Given the description of an element on the screen output the (x, y) to click on. 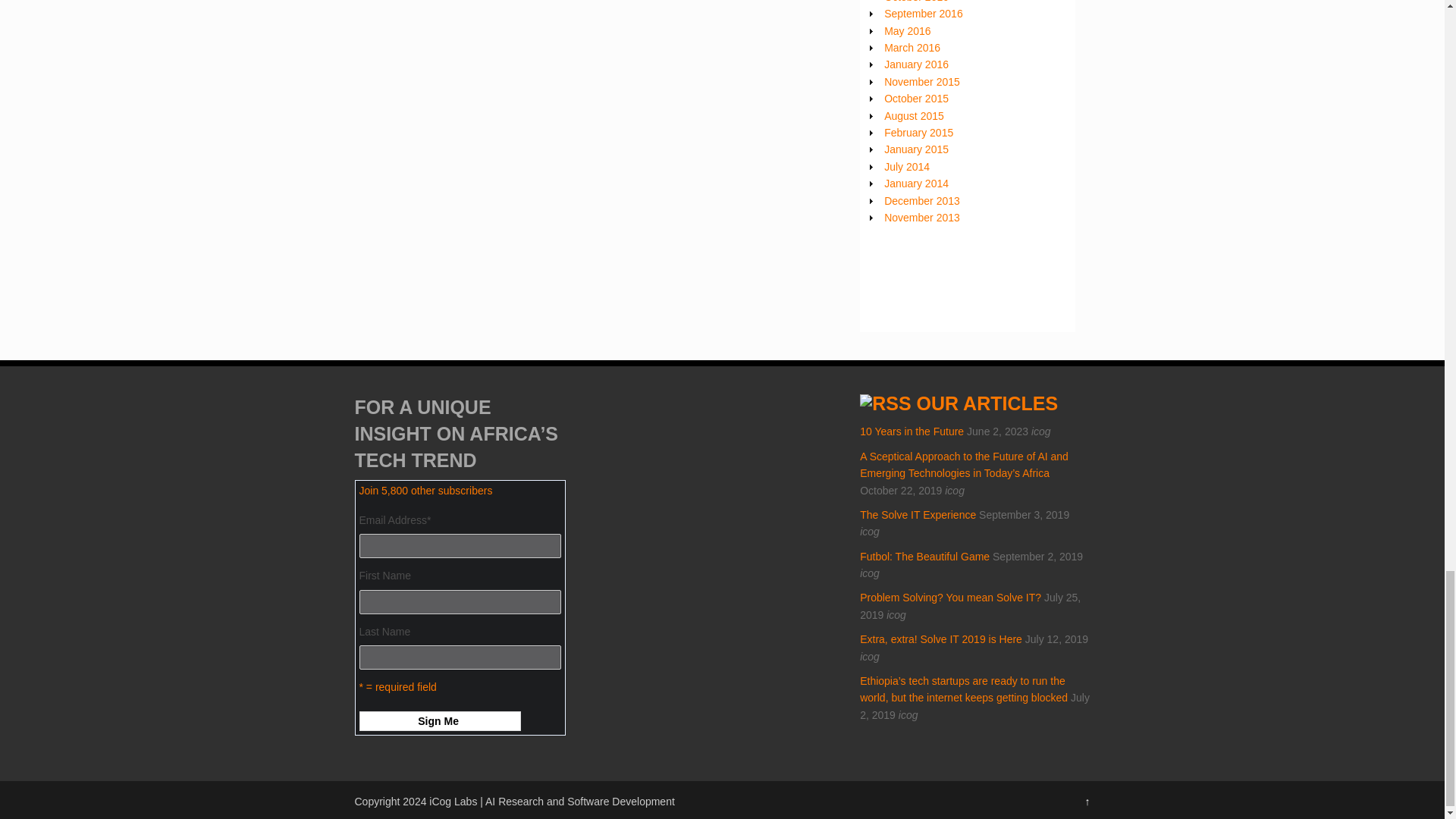
Sign Me  (440, 721)
